Given the description of an element on the screen output the (x, y) to click on. 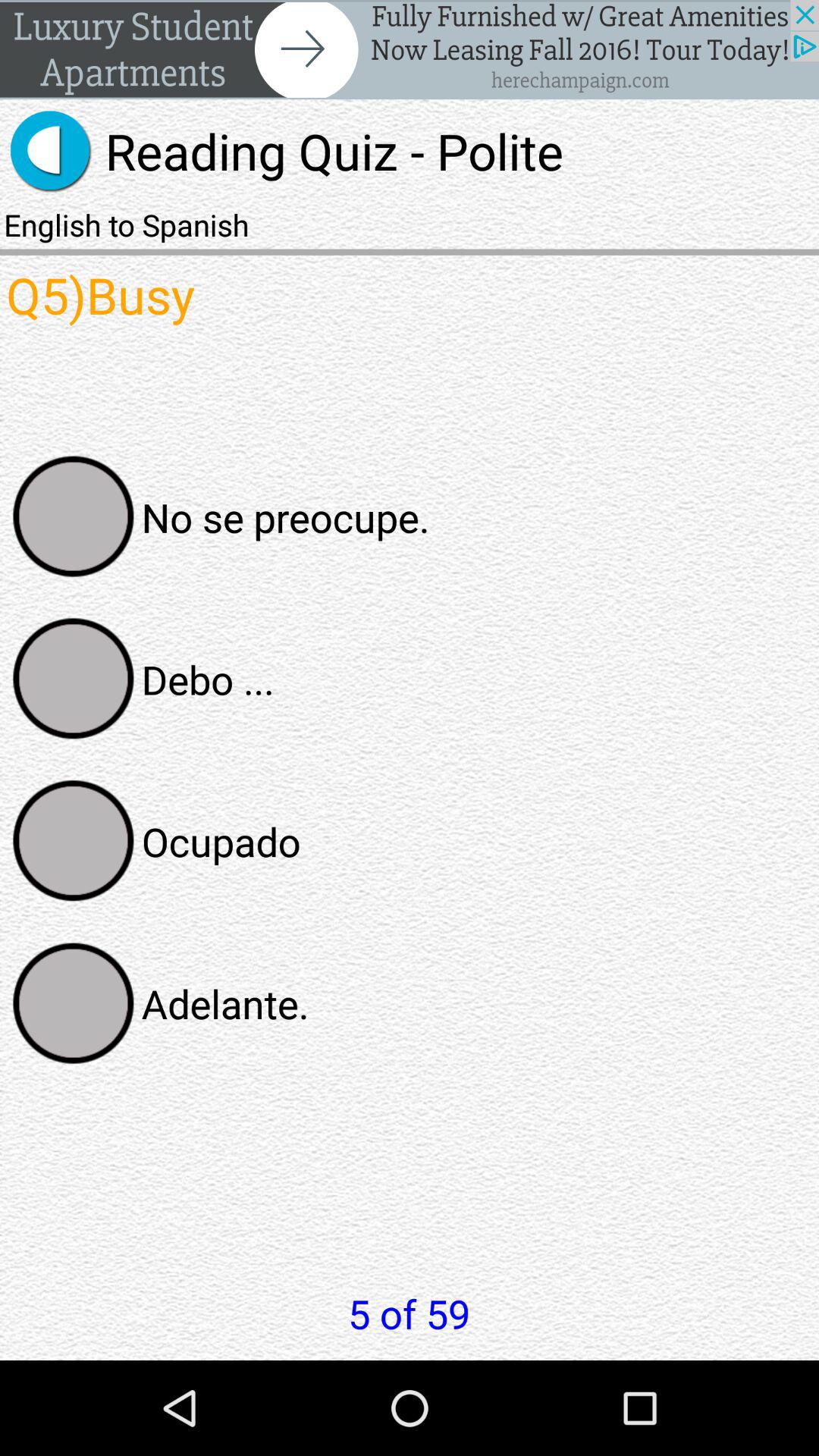
select button (73, 516)
